Given the description of an element on the screen output the (x, y) to click on. 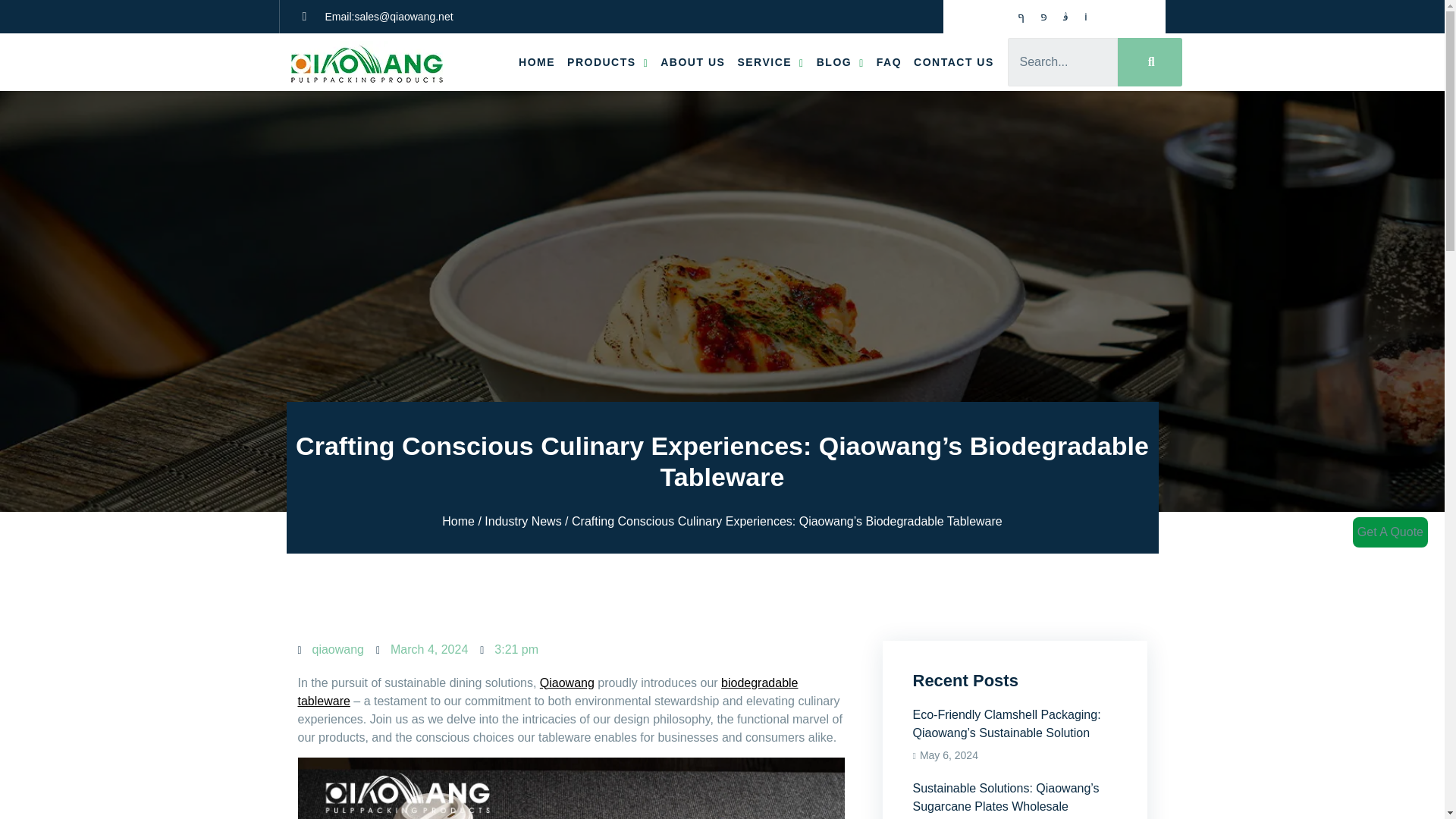
PRODUCTS (606, 61)
biodegradable tableware (547, 691)
BLOG (840, 61)
Industry News (522, 521)
CONTACT US (953, 61)
Qiaowang (567, 682)
March 4, 2024 (421, 649)
SERVICE (769, 61)
qiaowang (330, 649)
FAQ (888, 61)
HOME (536, 61)
Search (1062, 61)
Search (1150, 61)
ABOUT US (691, 61)
Home (458, 521)
